Given the description of an element on the screen output the (x, y) to click on. 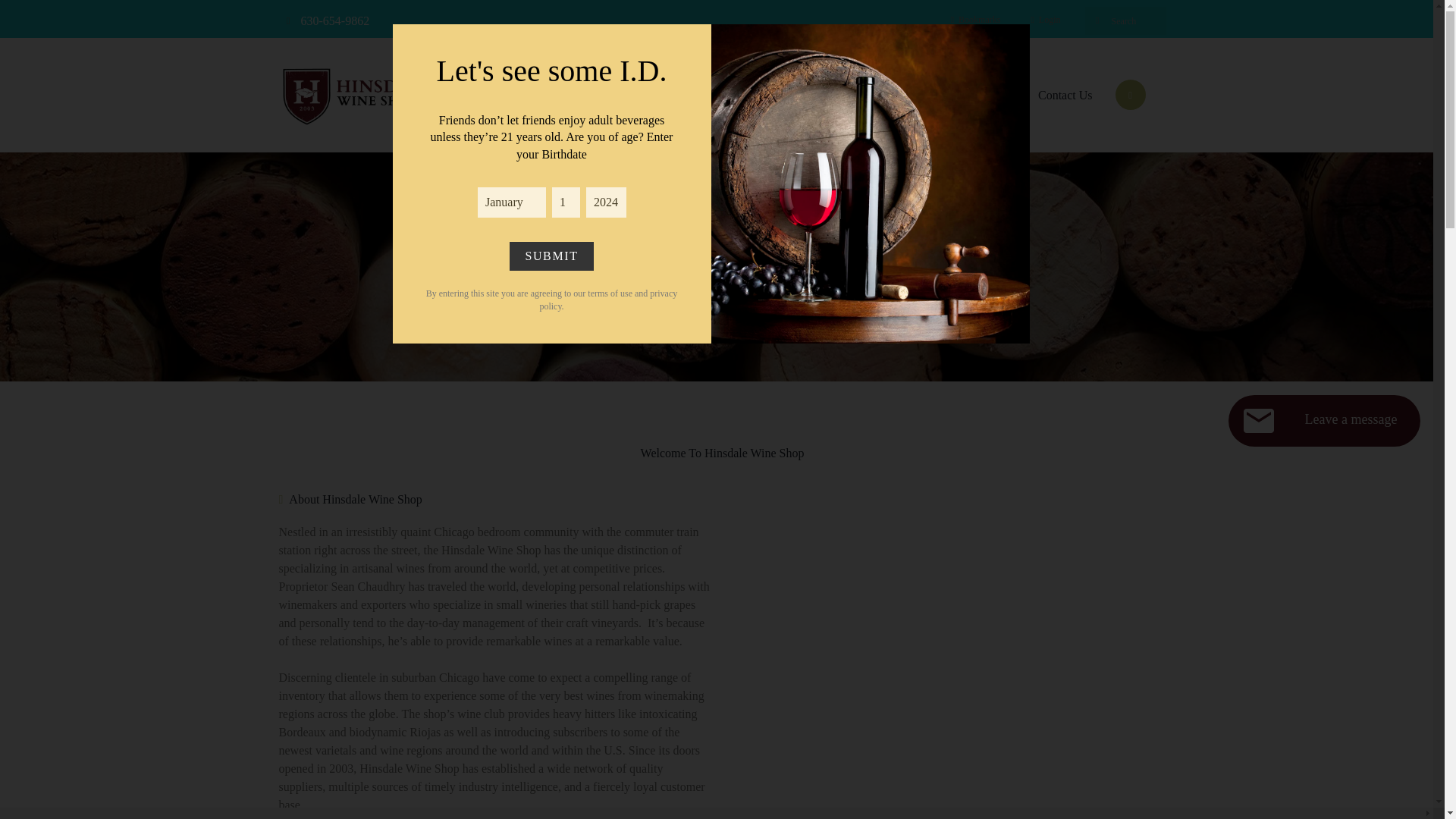
Home (695, 283)
Shop (770, 94)
About Us (976, 94)
Show bookmarks (975, 19)
Contact Us (1065, 94)
Login (1044, 19)
Home (704, 94)
Submit (550, 256)
Start search (1097, 20)
Leave a message (1324, 420)
Events (837, 94)
Bookmarks (975, 19)
